Given the description of an element on the screen output the (x, y) to click on. 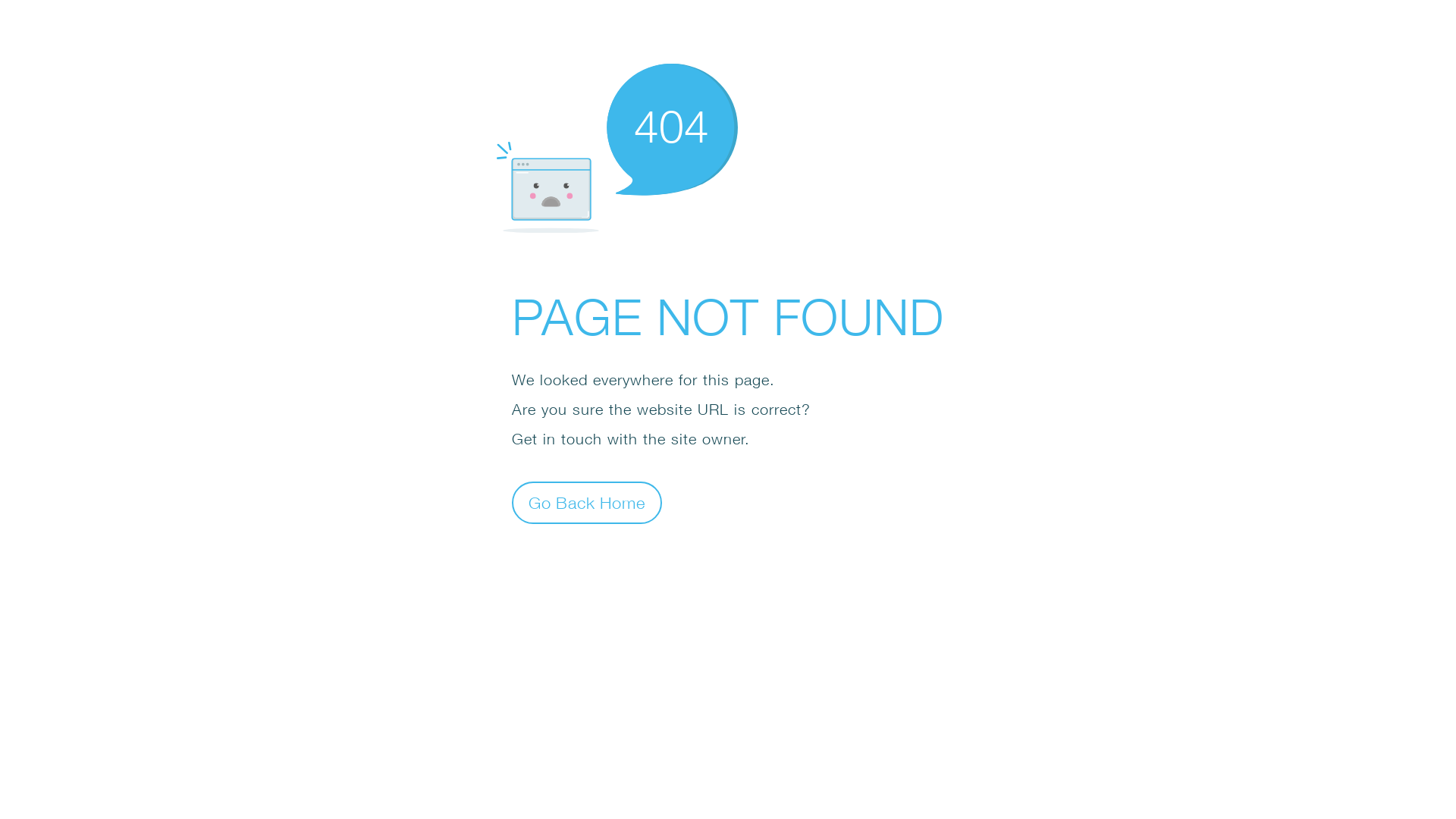
Go Back Home Element type: text (586, 502)
